Given the description of an element on the screen output the (x, y) to click on. 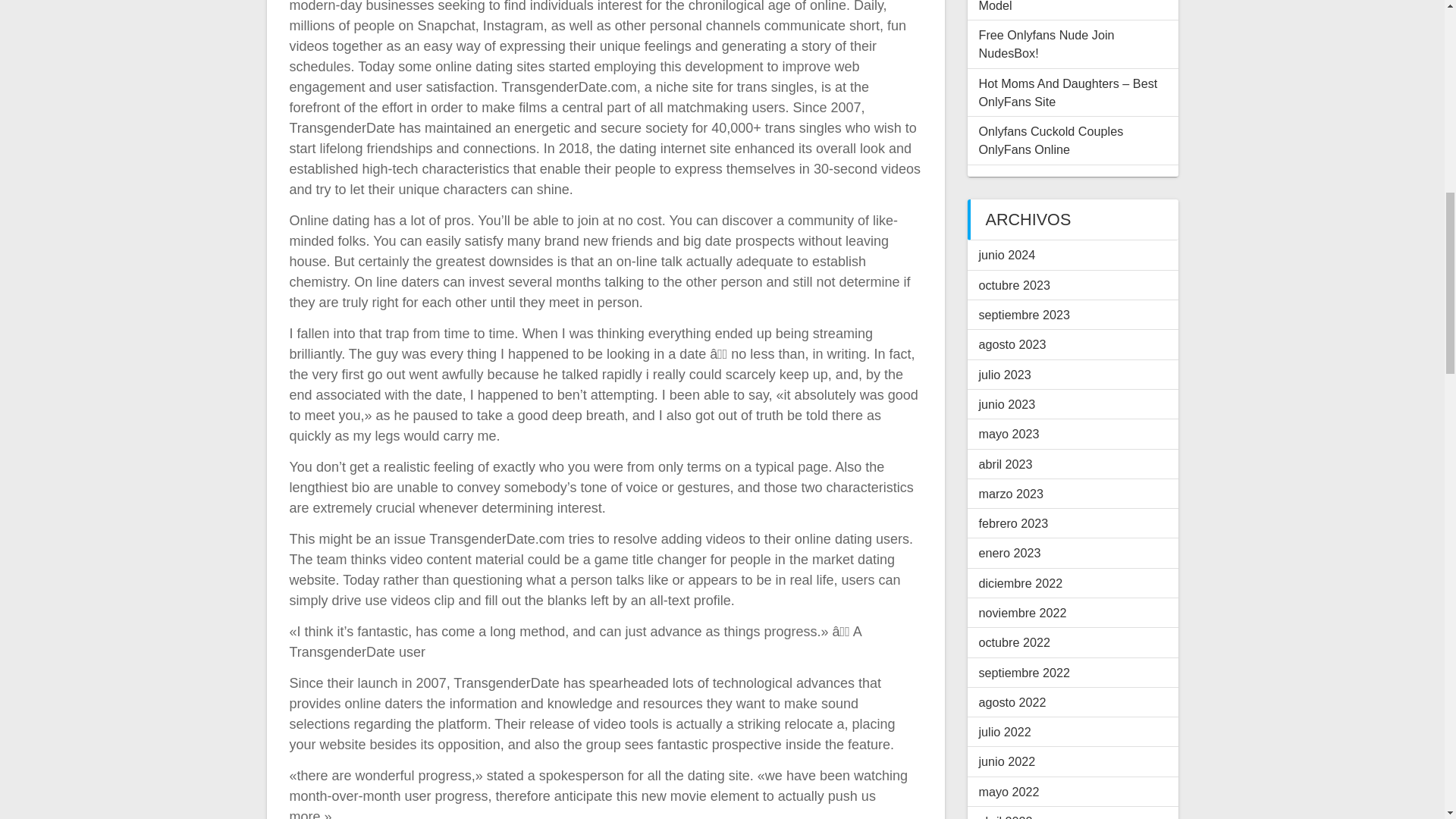
Onlyfans Cuckold Couples OnlyFans Online (1050, 140)
abril 2023 (1005, 463)
enero 2023 (1009, 552)
septiembre 2023 (1024, 314)
noviembre 2022 (1021, 612)
julio 2023 (1004, 374)
Onlyfans Profile Finder Only Fans Model (1069, 5)
junio 2024 (1006, 254)
Free Onlyfans Nude Join NudesBox! (1045, 43)
junio 2023 (1006, 404)
